Given the description of an element on the screen output the (x, y) to click on. 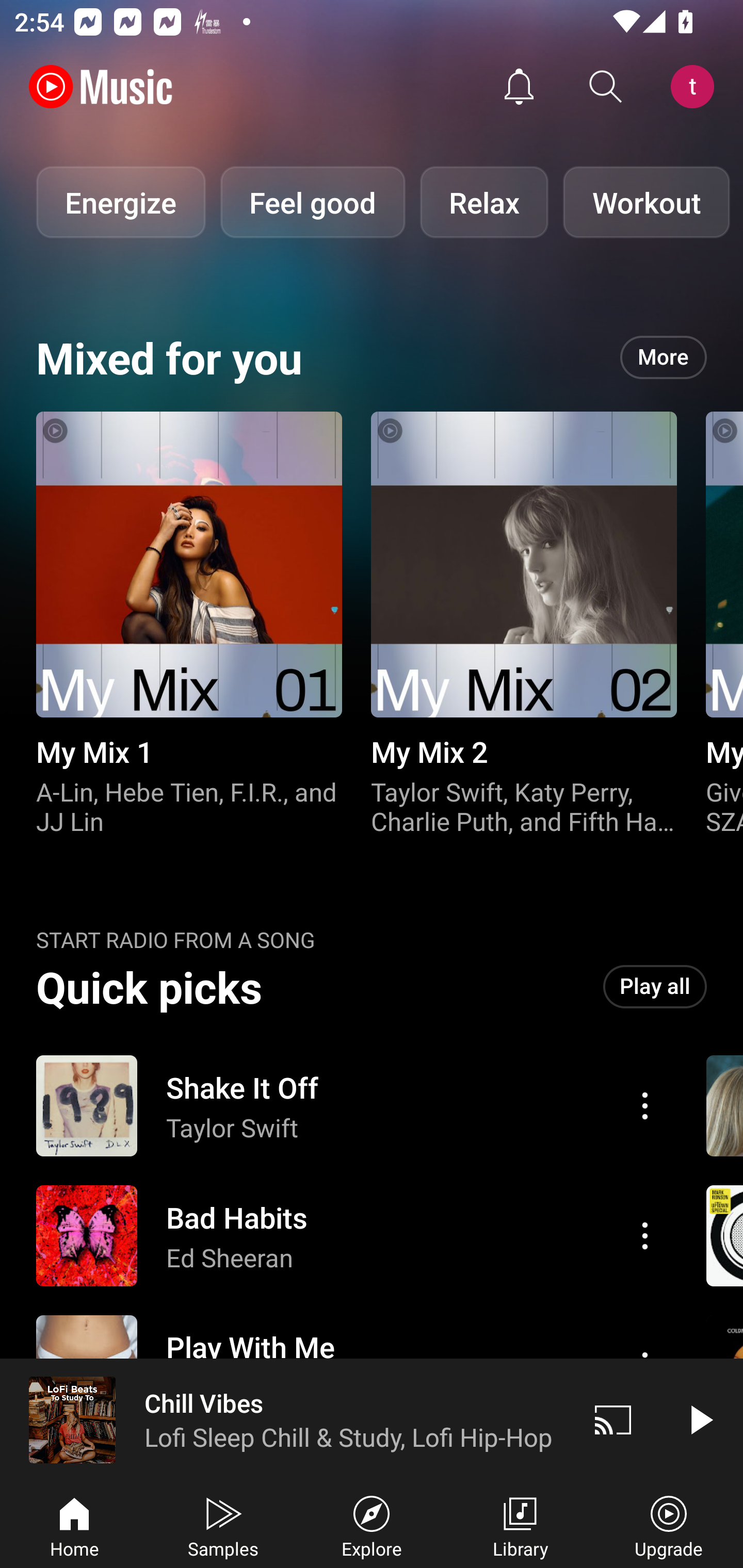
Activity feed (518, 86)
Search (605, 86)
Account (696, 86)
Action menu (349, 1106)
Action menu (644, 1106)
Action menu (349, 1236)
Action menu (644, 1235)
Cast. Disconnected (612, 1419)
Play video (699, 1419)
Home (74, 1524)
Samples (222, 1524)
Explore (371, 1524)
Library (519, 1524)
Upgrade (668, 1524)
